Given the description of an element on the screen output the (x, y) to click on. 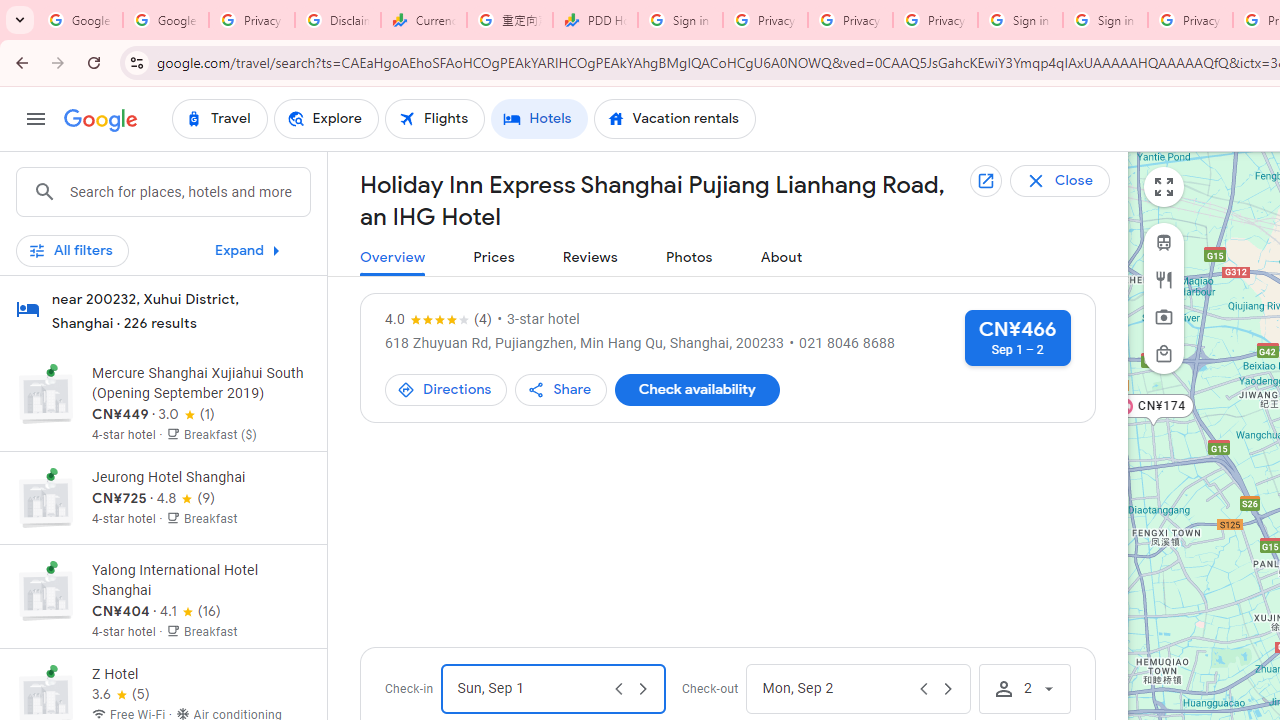
View prices for Jeurong Hotel Shanghai (200, 567)
Prices (493, 258)
Expand (251, 250)
Google Workspace Admin Community (79, 20)
Skip to main content (163, 259)
Flights (435, 118)
Number of travelers. Current number of travelers is 2. (1024, 688)
Hotels (539, 118)
PDD Holdings Inc - ADR (PDD) Price & News - Google Finance (595, 20)
About (781, 258)
